Given the description of an element on the screen output the (x, y) to click on. 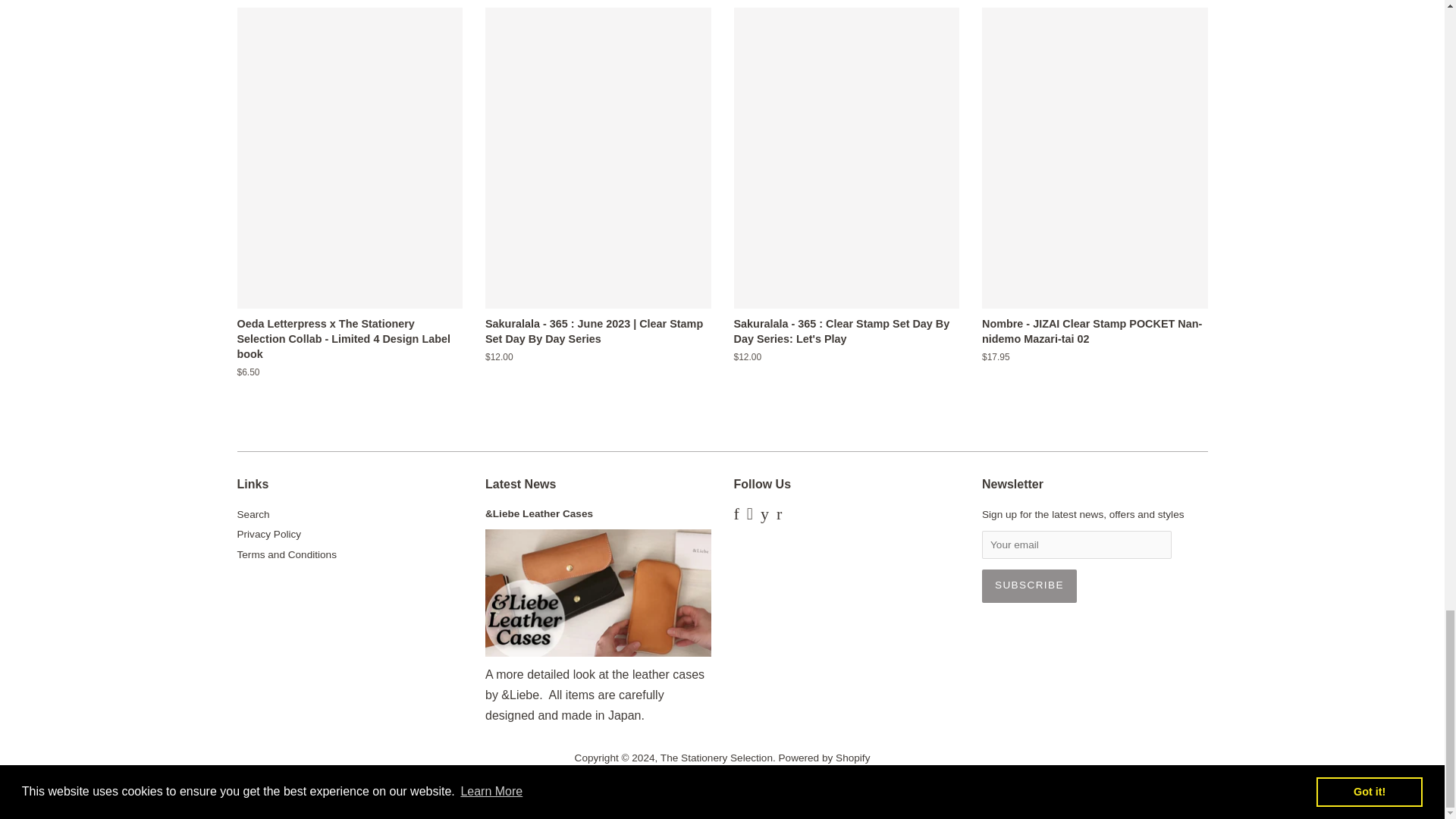
Mastercard (809, 782)
Visa (896, 782)
PayPal (852, 782)
Subscribe (1029, 585)
Diners Club (635, 782)
Apple Pay (590, 782)
Google Pay (721, 782)
Discover (678, 782)
American Express (548, 782)
JCB (765, 782)
